Given the description of an element on the screen output the (x, y) to click on. 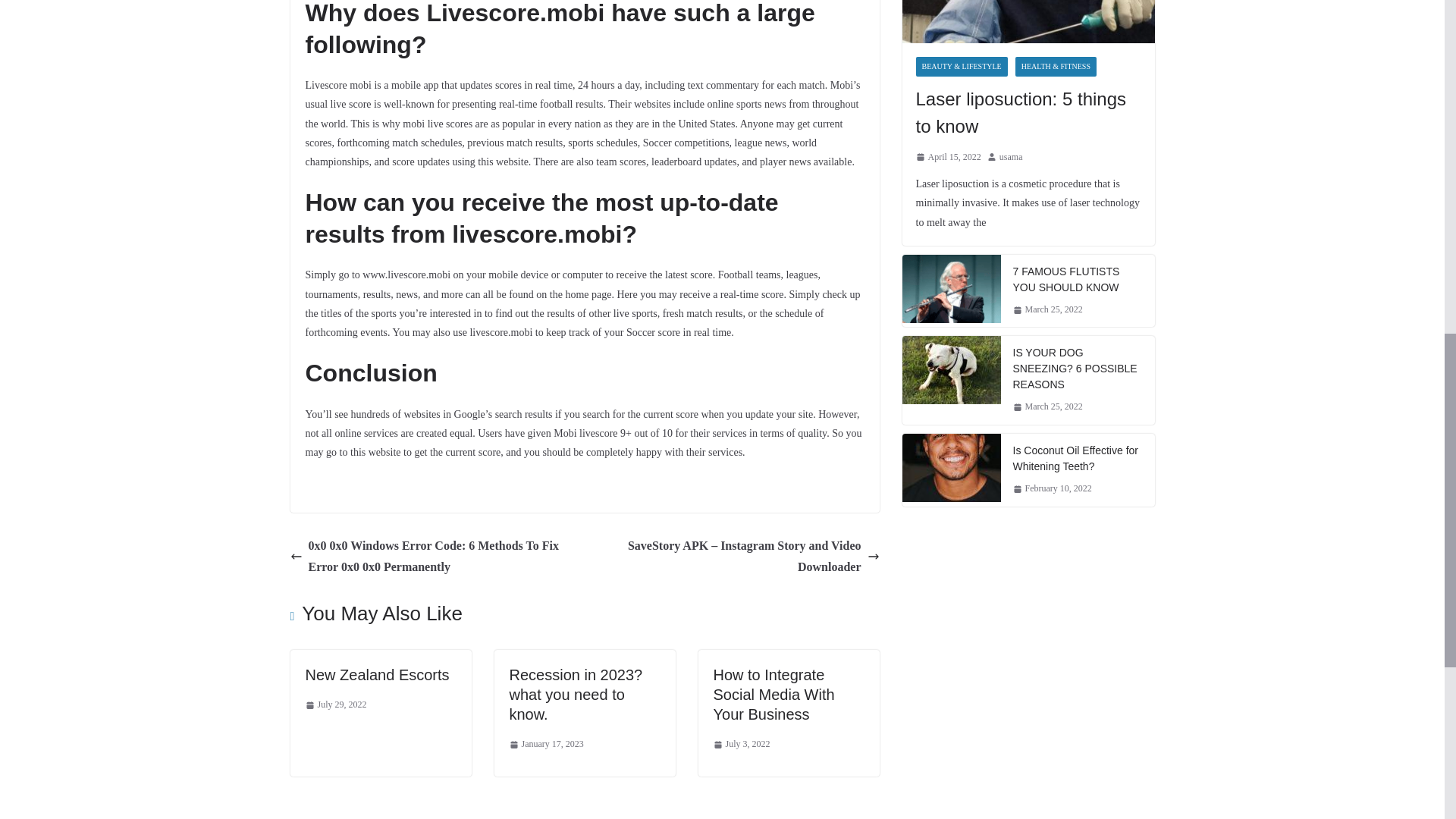
Recession in 2023? what you need to know. (576, 694)
10:57 pm (546, 744)
July 29, 2022 (335, 704)
How to Integrate Social Media With Your Business (773, 694)
5:32 am (335, 704)
July 3, 2022 (741, 744)
New Zealand Escorts (376, 674)
January 17, 2023 (546, 744)
New Zealand Escorts (376, 674)
Recession in 2023? what you need to know. (576, 694)
